Given the description of an element on the screen output the (x, y) to click on. 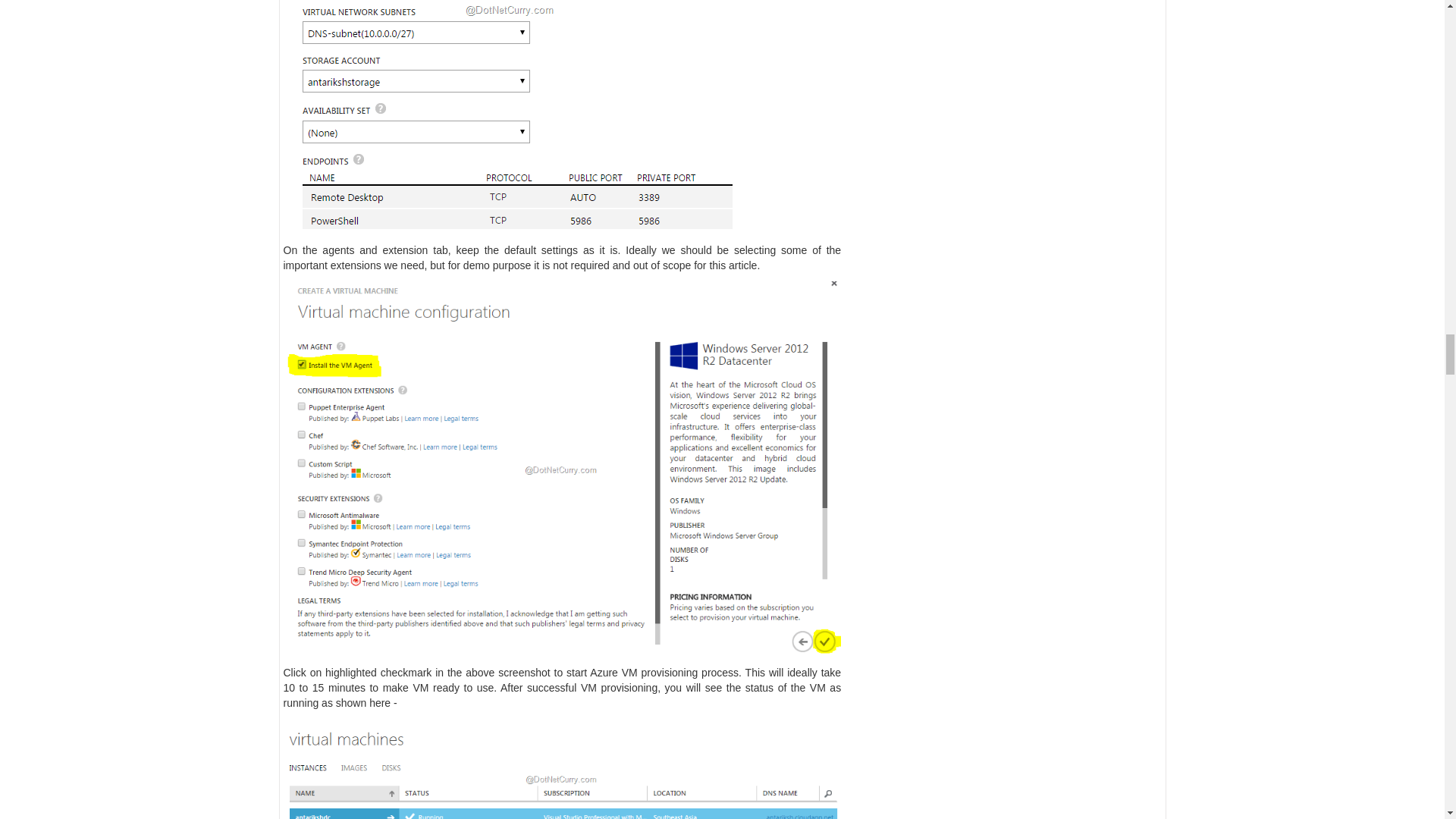
create-vm6 (562, 769)
create-vm4 (510, 117)
